Given the description of an element on the screen output the (x, y) to click on. 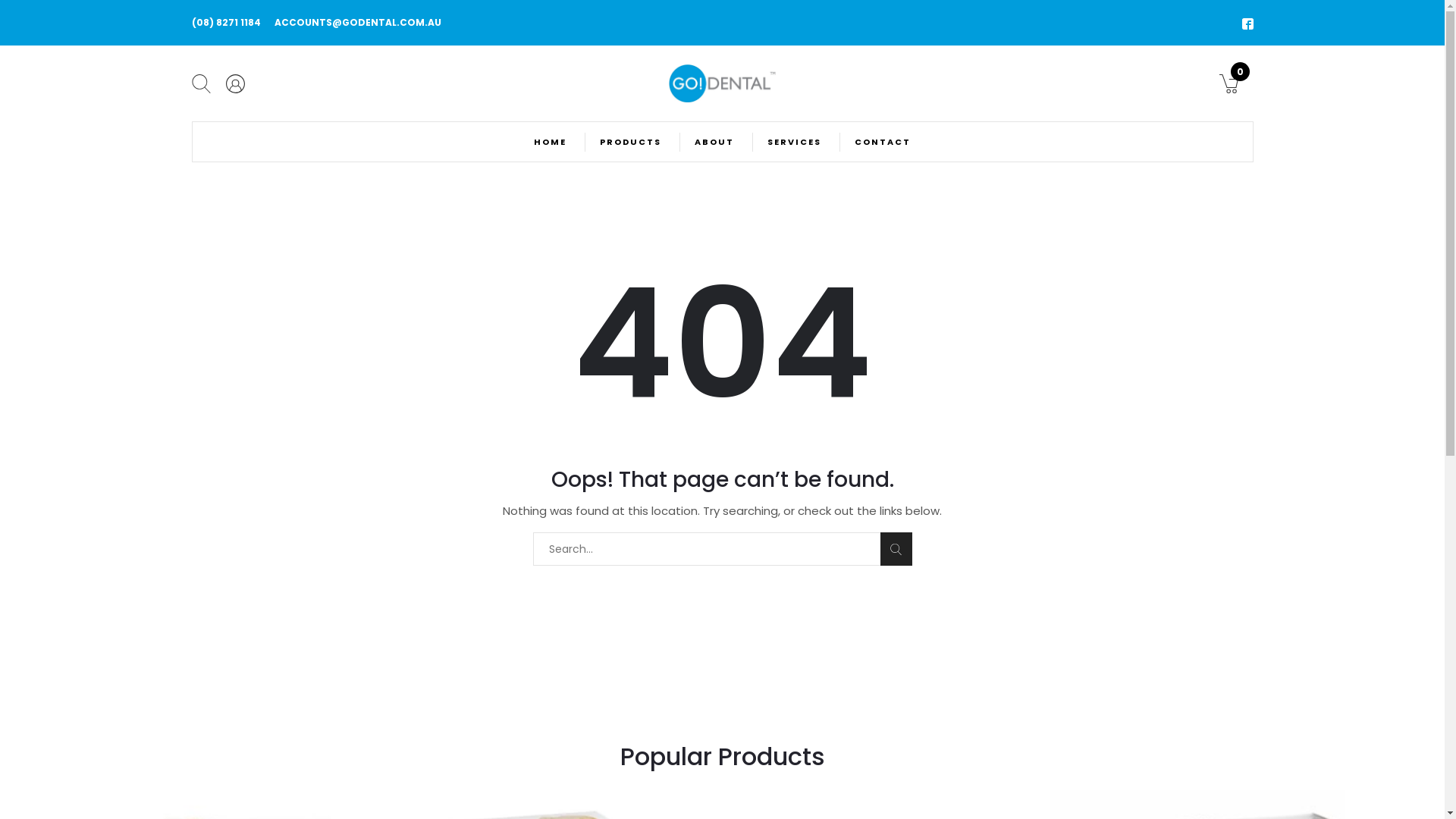
HOME Element type: text (549, 141)
0 Items
0 Element type: text (1228, 83)
SERVICES Element type: text (794, 141)
CONTACT Element type: text (882, 141)
SEARCH Element type: text (896, 548)
PRODUCTS Element type: text (630, 141)
ABOUT Element type: text (714, 141)
